Given the description of an element on the screen output the (x, y) to click on. 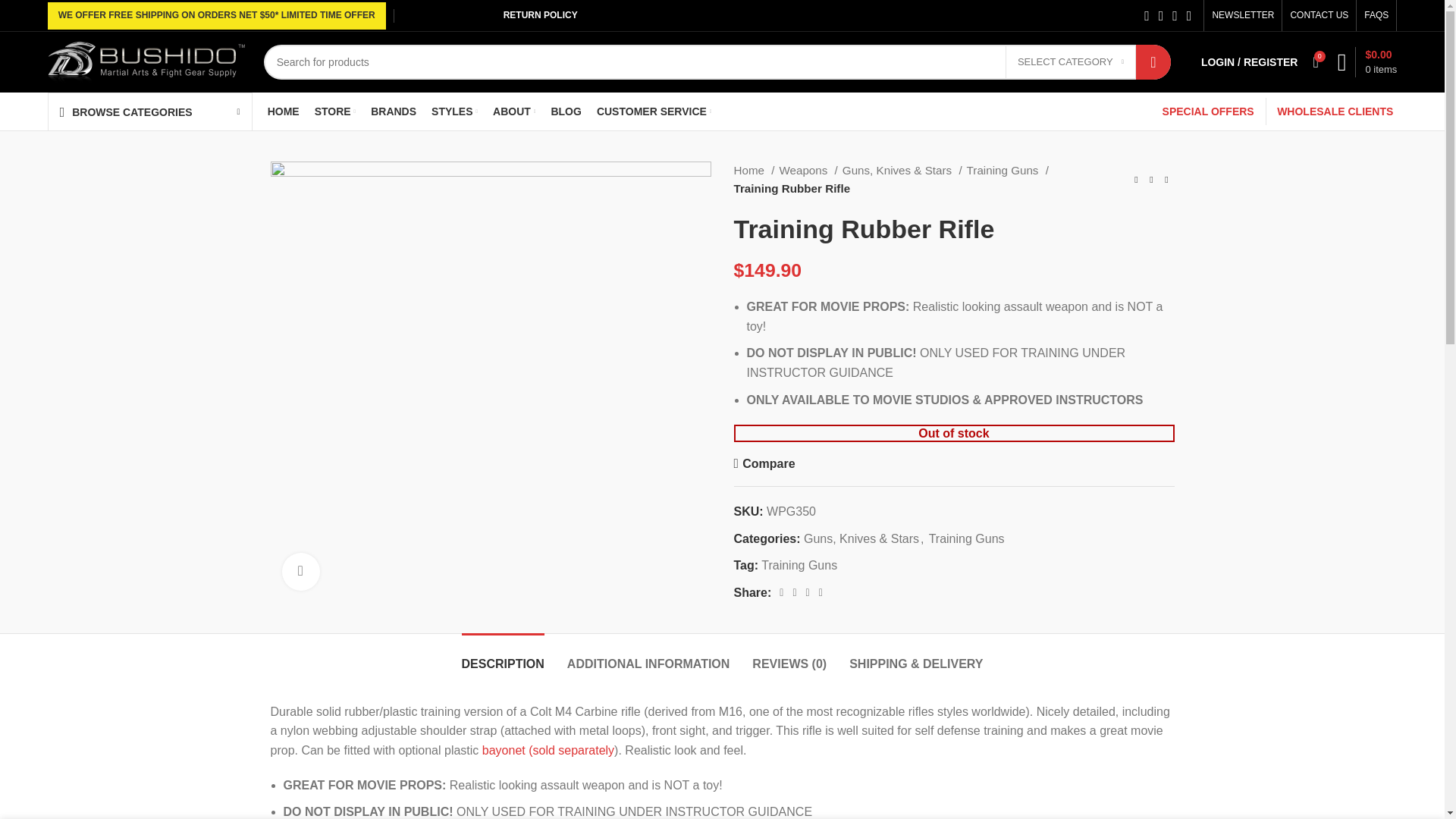
SELECT CATEGORY (1070, 61)
Search for products (716, 62)
NEWSLETTER (1242, 15)
SELECT CATEGORY (1070, 61)
CONTACT US (1319, 15)
RETURN POLICY (540, 14)
Shopping cart (1367, 61)
My account (1249, 61)
